Given the description of an element on the screen output the (x, y) to click on. 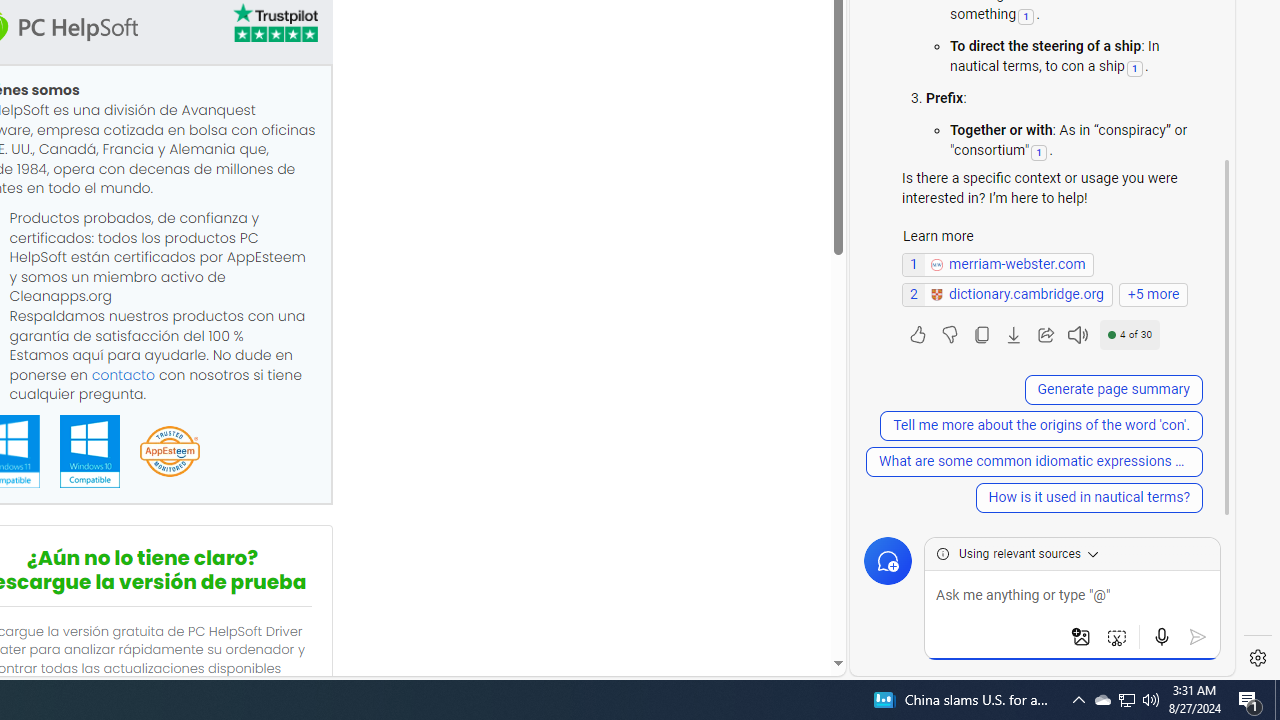
App Esteem (169, 452)
App Esteem (169, 452)
contacto (123, 374)
TrustPilot (274, 25)
TrustPilot (274, 22)
Windows 10 Compatible (89, 451)
